Given the description of an element on the screen output the (x, y) to click on. 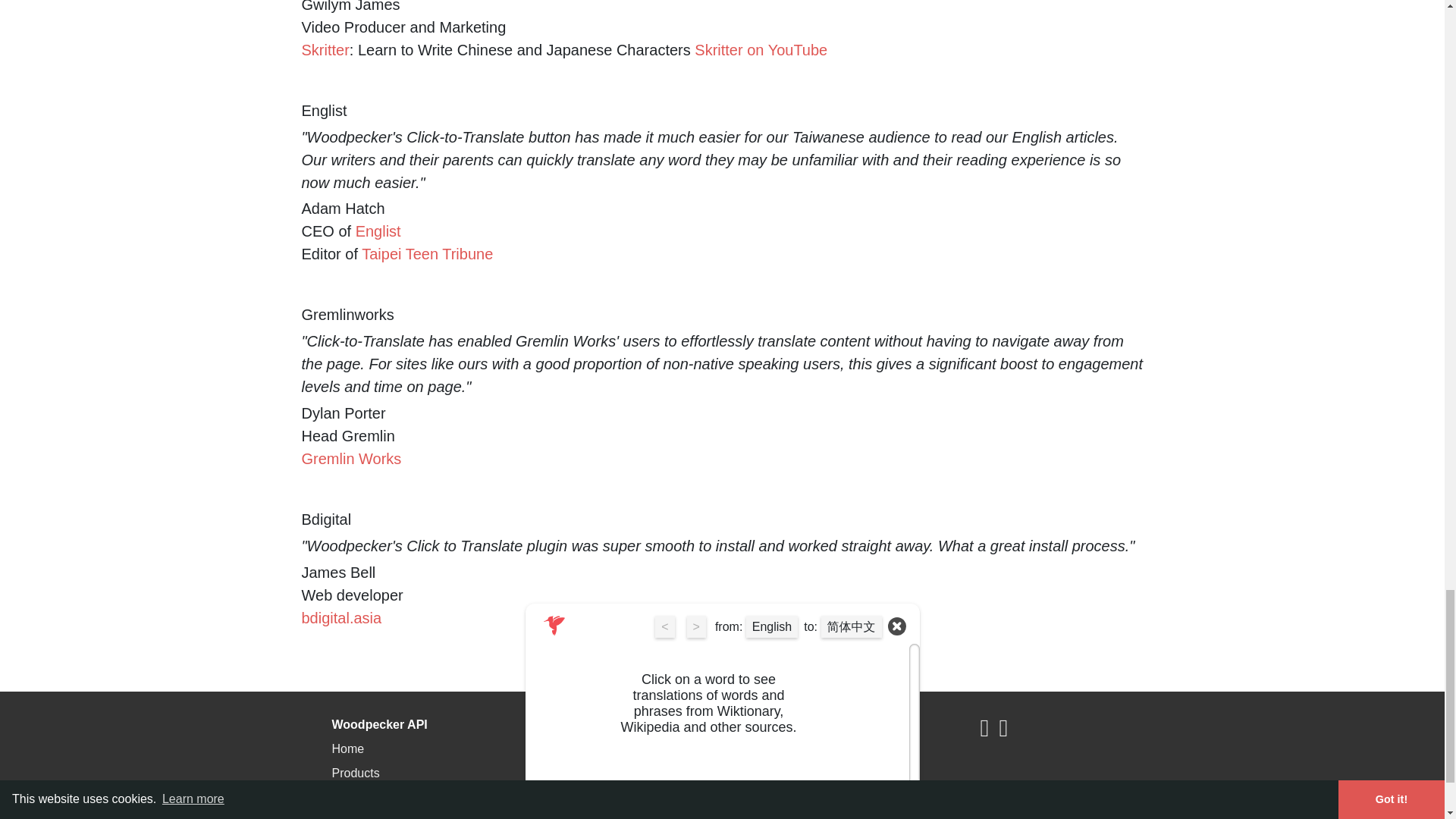
Create Account (588, 797)
About Woodpecker Learning (841, 772)
Enter the Console (596, 748)
Blog (343, 816)
Skritter on YouTube (760, 49)
Home (348, 748)
bdigital.asia (341, 617)
Woodpecker App (810, 748)
Sign In (566, 772)
Taipei Teen Tribune (427, 253)
Products (355, 772)
Skritter (325, 49)
Englist (378, 230)
FAQ (343, 797)
Contact Us (577, 816)
